Given the description of an element on the screen output the (x, y) to click on. 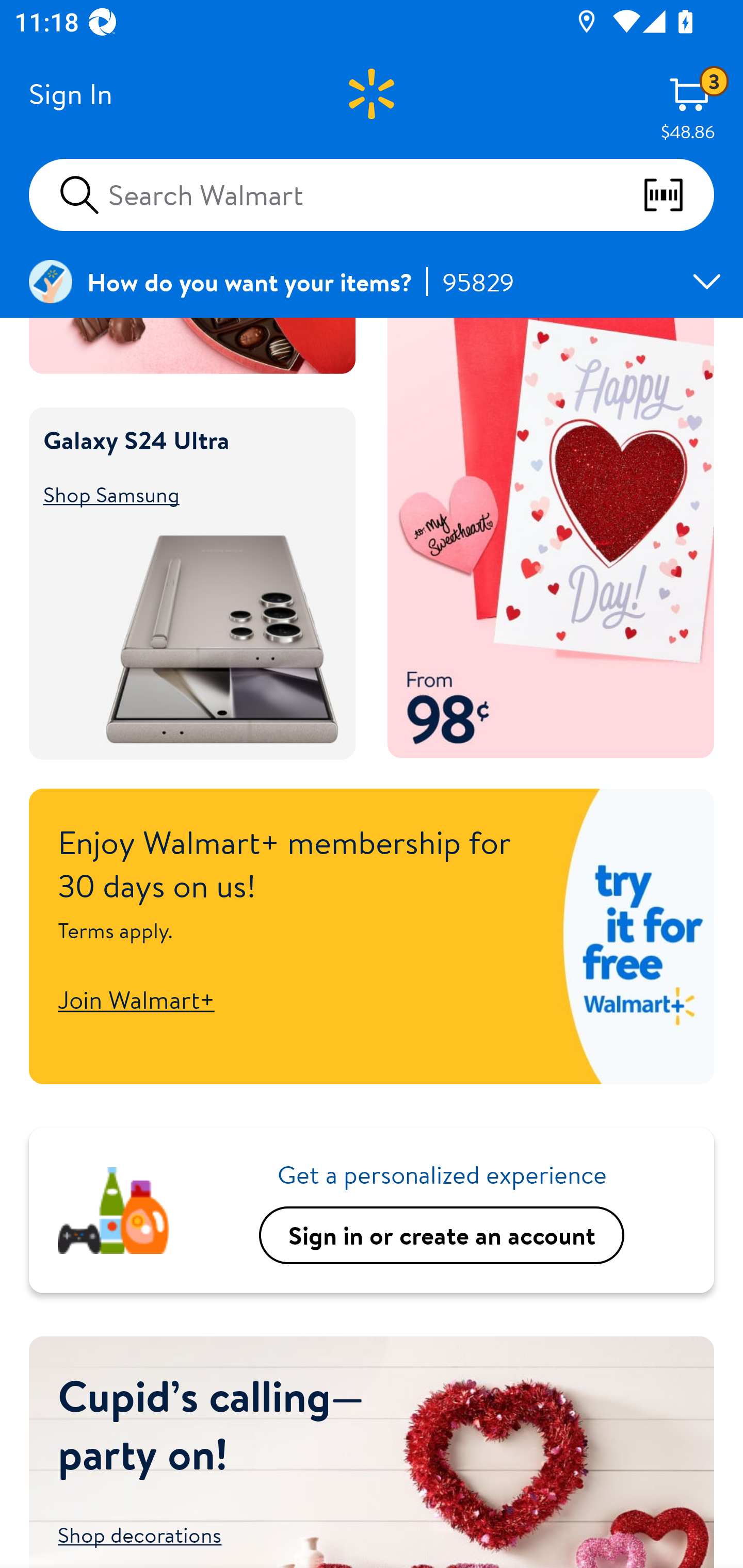
Sign In (70, 93)
Search Walmart scan barcodes qr codes and more (371, 194)
scan barcodes qr codes and more (677, 195)
Say it from the heart  Shop cards Shop cards (550, 538)
Shop Samsung Shop Samsung Galaxy S24 Ultra (183, 494)
Sign in or create an account (441, 1234)
